Given the description of an element on the screen output the (x, y) to click on. 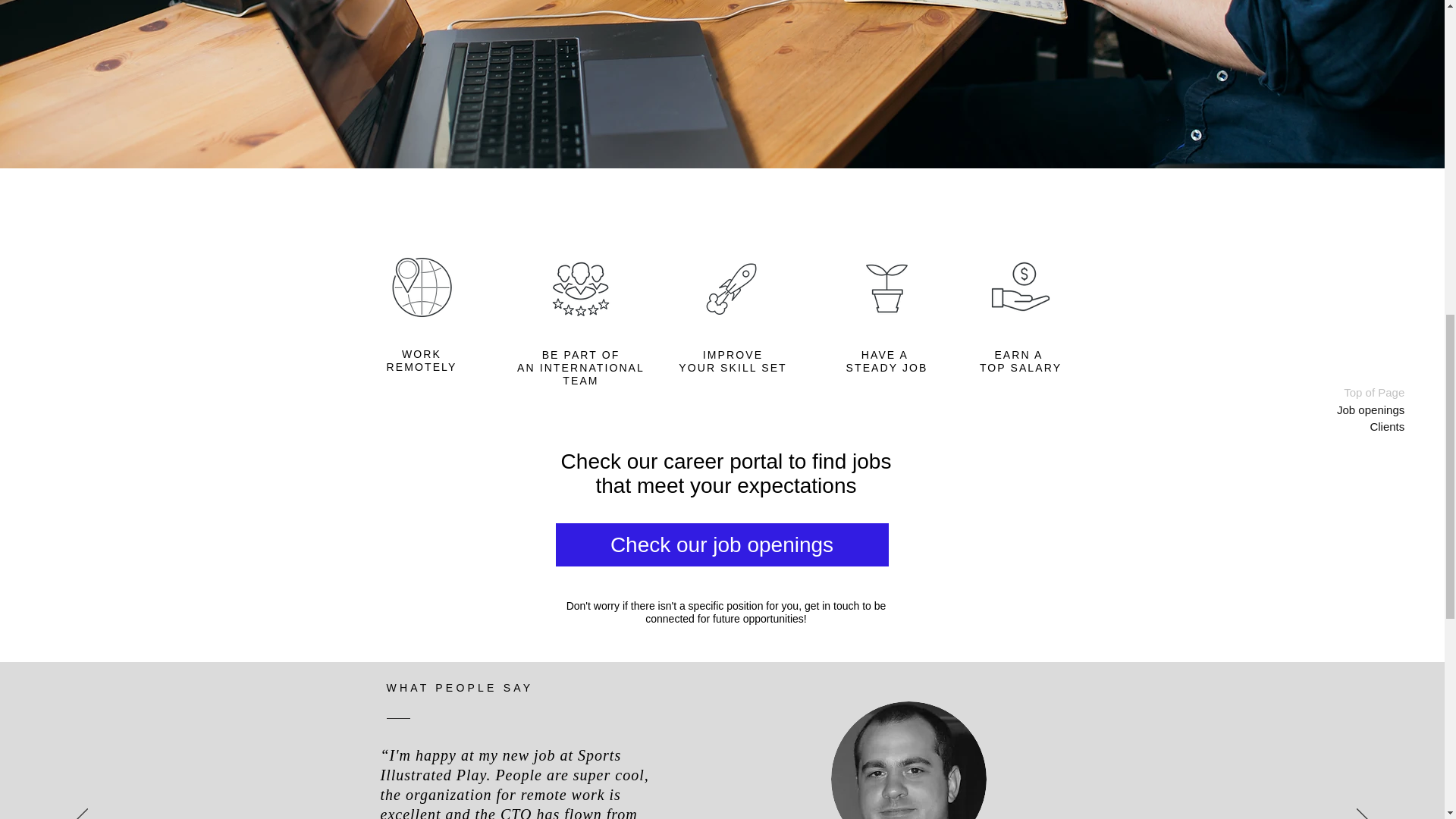
Check our job openings (721, 544)
